Given the description of an element on the screen output the (x, y) to click on. 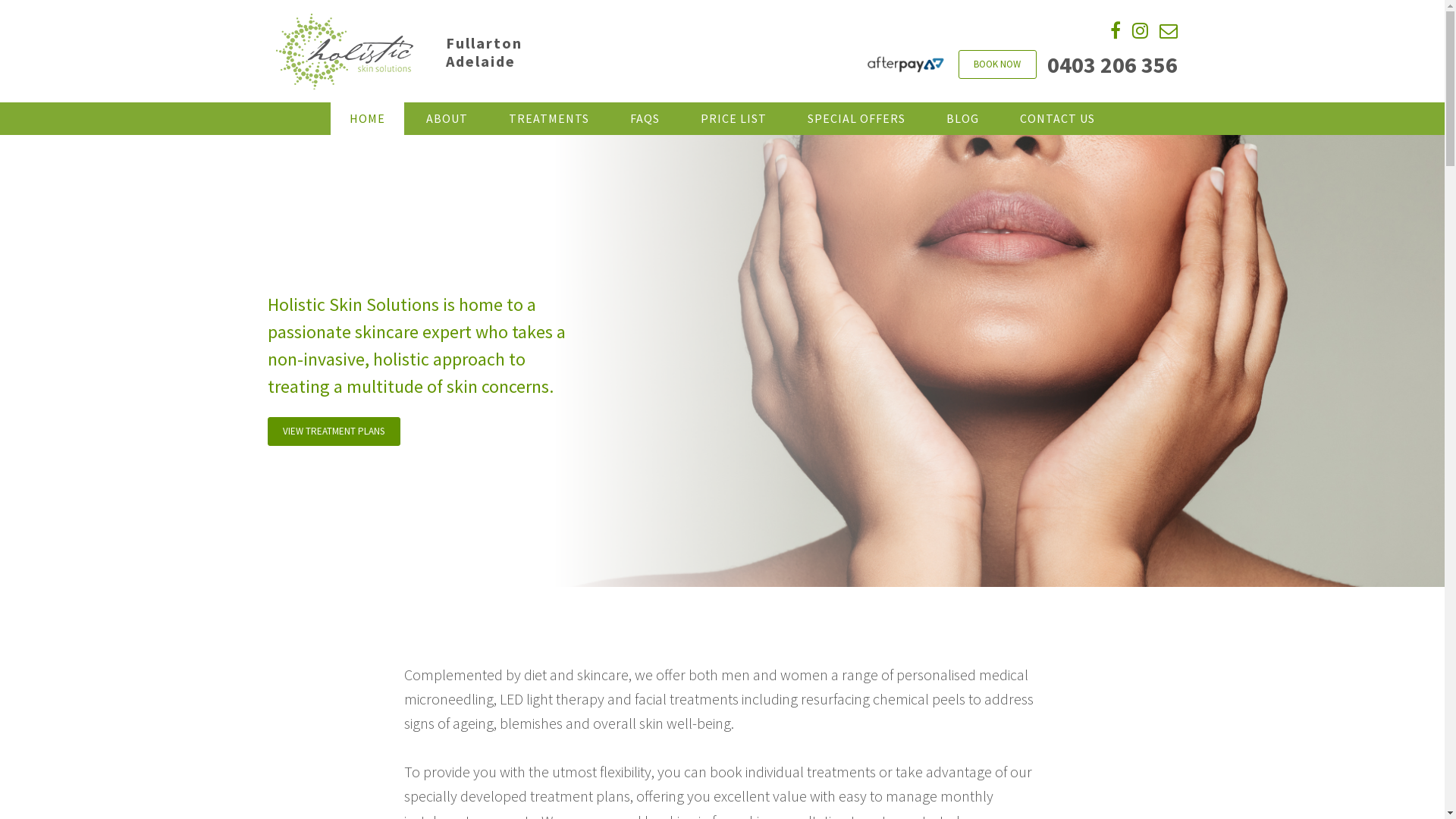
HOME Element type: text (367, 118)
TREATMENTS Element type: text (548, 118)
BOOK NOW Element type: text (997, 64)
BLOG Element type: text (962, 118)
SPECIAL OFFERS Element type: text (856, 118)
PRICE LIST Element type: text (733, 118)
FAQS Element type: text (644, 118)
ABOUT Element type: text (446, 118)
0403 206 356 Element type: text (1111, 64)
CONTACT US Element type: text (1057, 118)
VIEW TREATMENT PLANS Element type: text (332, 431)
